Given the description of an element on the screen output the (x, y) to click on. 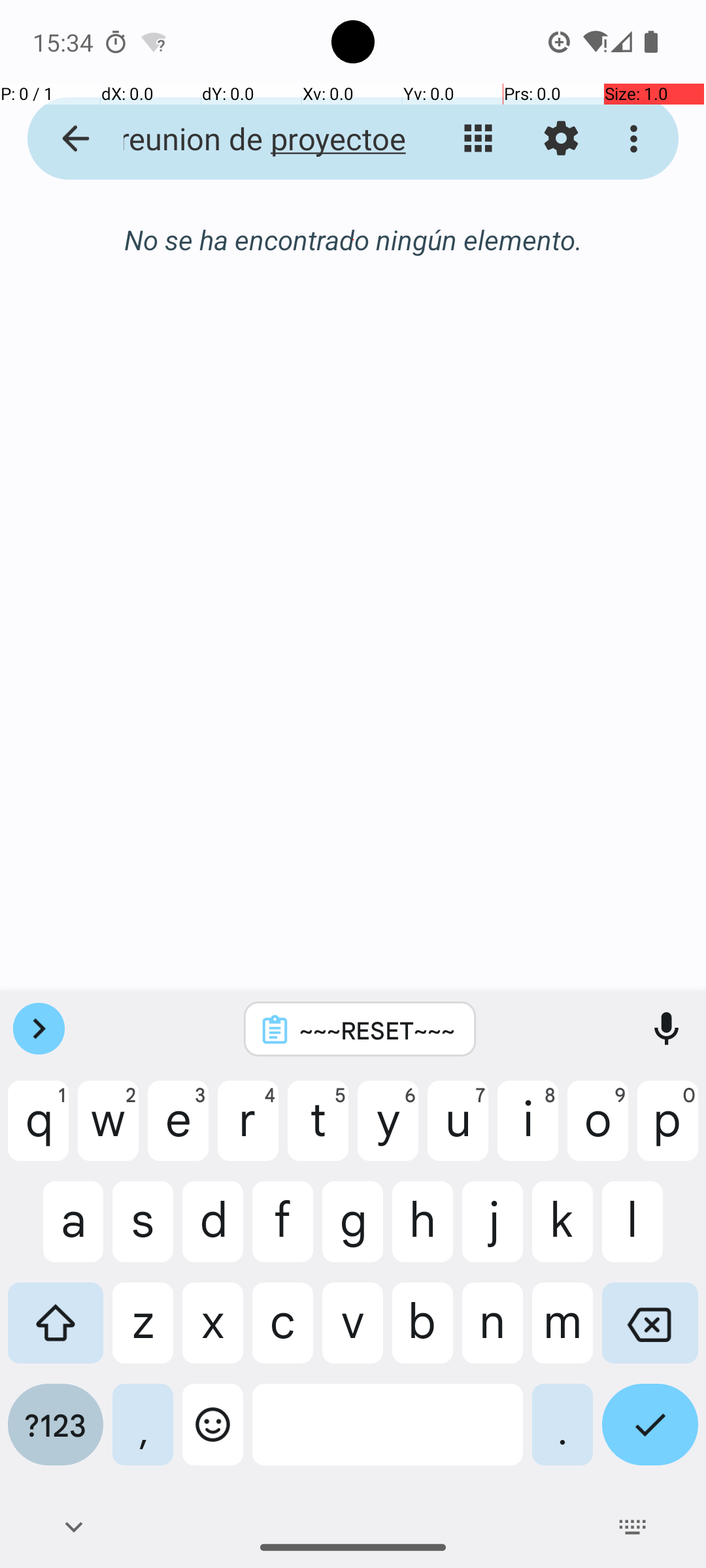
reunion dreunion de proyectoe equipo Element type: android.widget.EditText (252, 138)
